Given the description of an element on the screen output the (x, y) to click on. 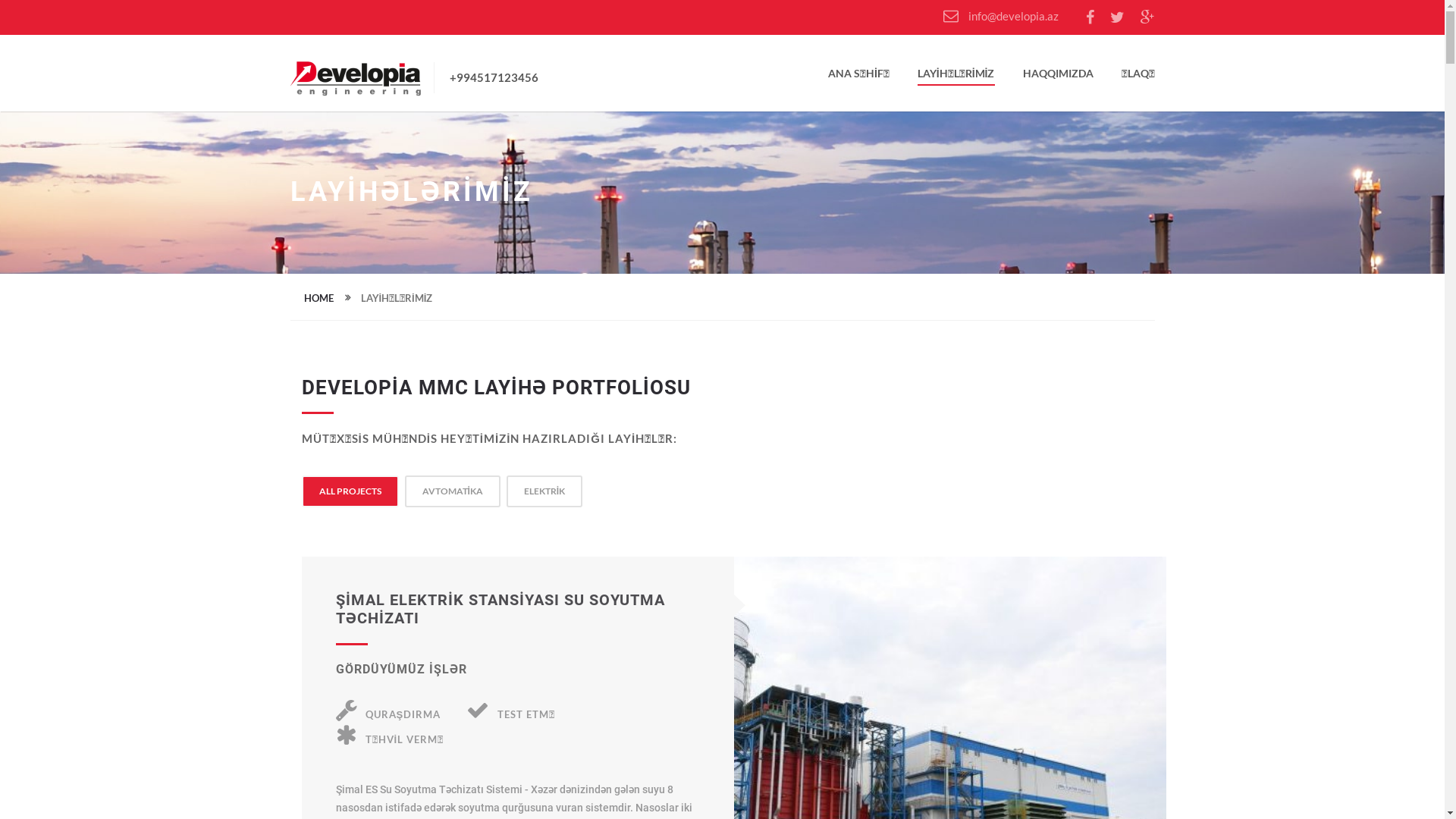
Google Plus Element type: hover (1147, 18)
ALL PROJECTS Element type: text (349, 490)
info@developia.az Element type: text (1000, 15)
Twitter Element type: hover (1117, 18)
HAQQIMIZDA Element type: text (1057, 76)
HOME Element type: text (317, 297)
Facebook Element type: hover (1089, 18)
